Given the description of an element on the screen output the (x, y) to click on. 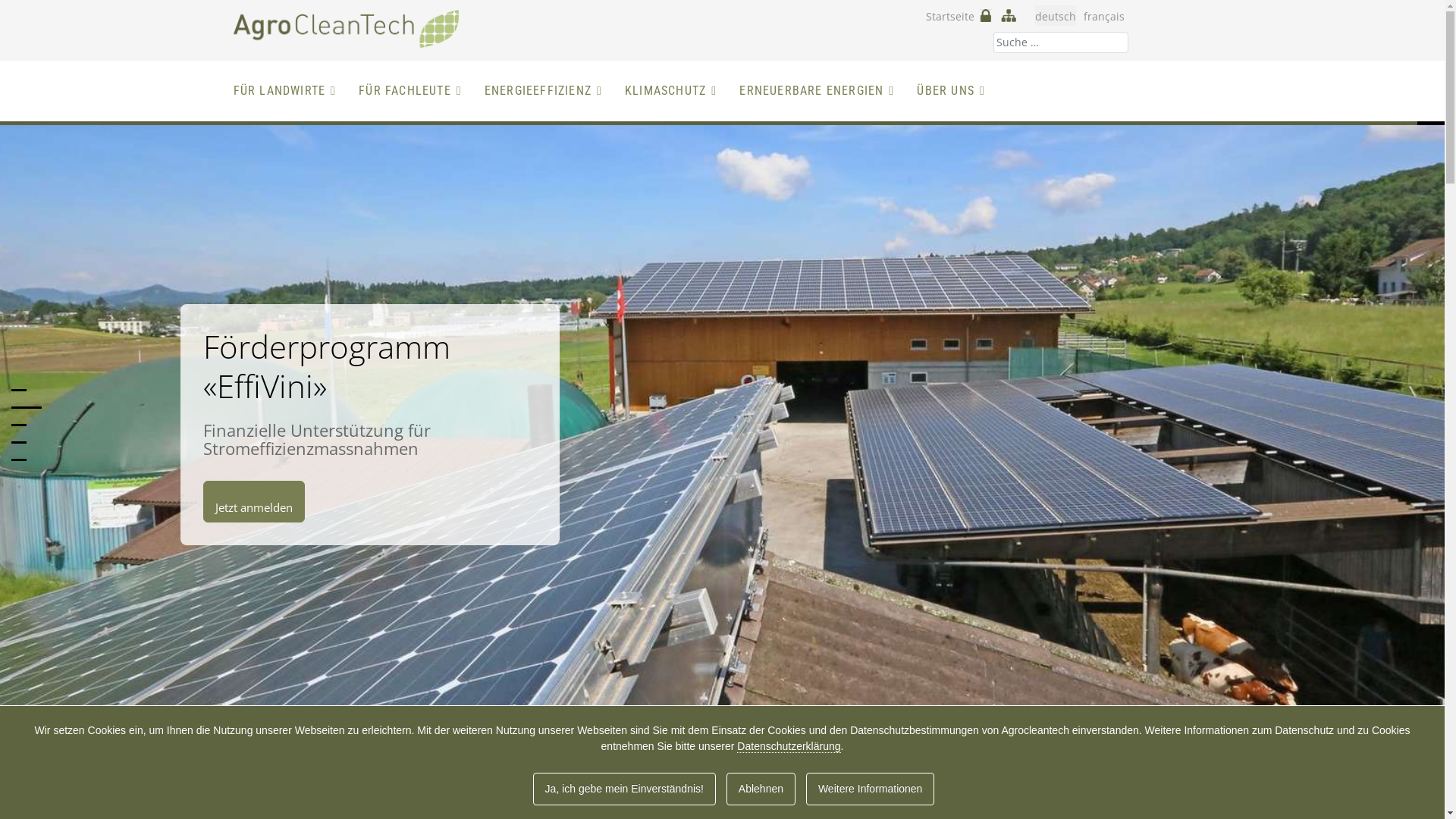
Startseite Element type: text (949, 16)
ERNEUERBARE ENERGIEN Element type: text (816, 90)
deutsch Element type: text (1054, 16)
Weitere Informationen Element type: text (870, 788)
Ablehnen Element type: text (760, 788)
KLIMASCHUTZ Element type: text (670, 90)
ENERGIEEFFIZIENZ Element type: text (543, 90)
Jetzt anmelden Element type: text (253, 501)
